Given the description of an element on the screen output the (x, y) to click on. 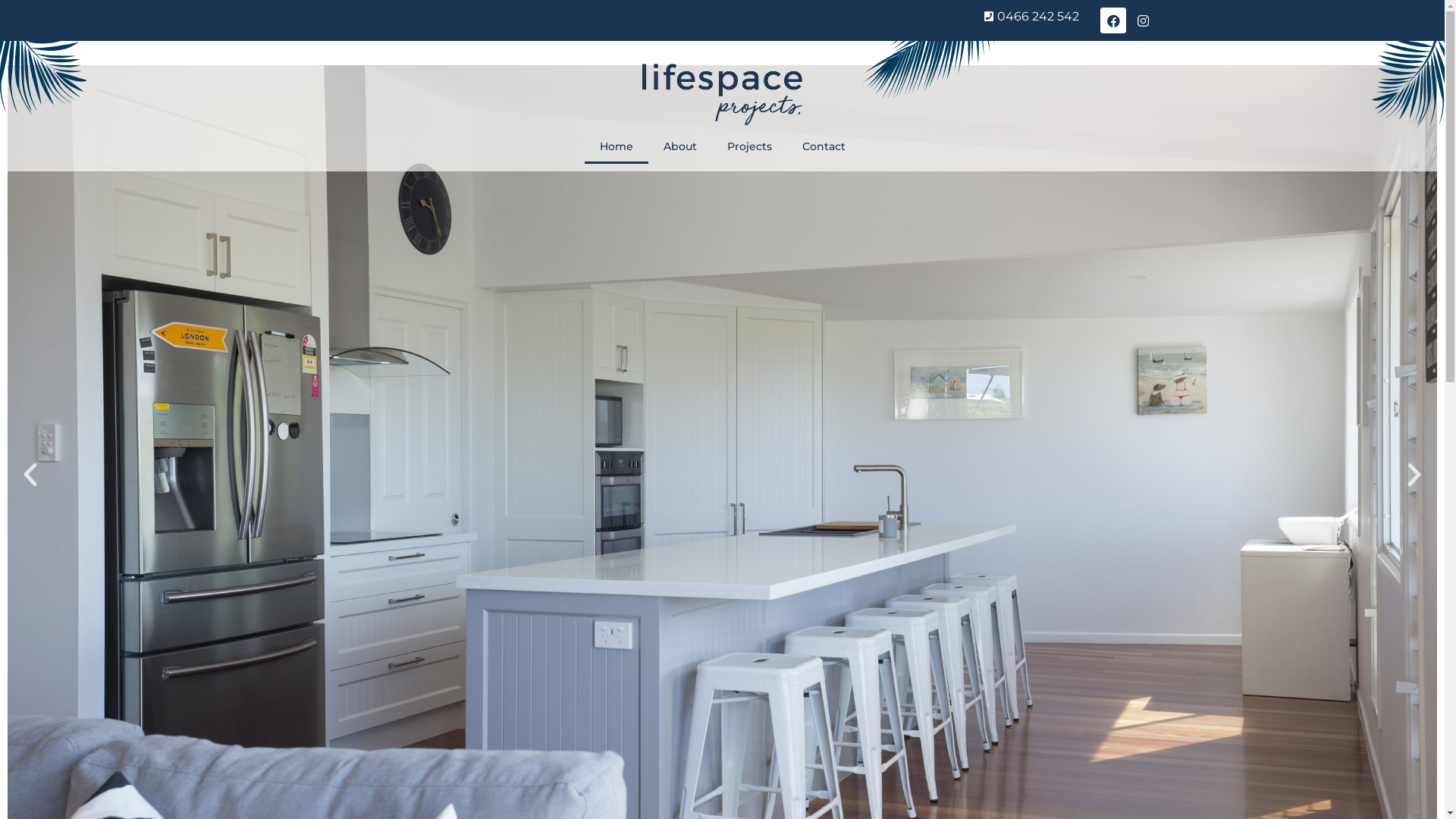
Home Element type: text (615, 145)
Contact Element type: text (823, 145)
0466 242 542 Element type: text (682, 16)
About Element type: text (679, 145)
Projects Element type: text (748, 145)
